Given the description of an element on the screen output the (x, y) to click on. 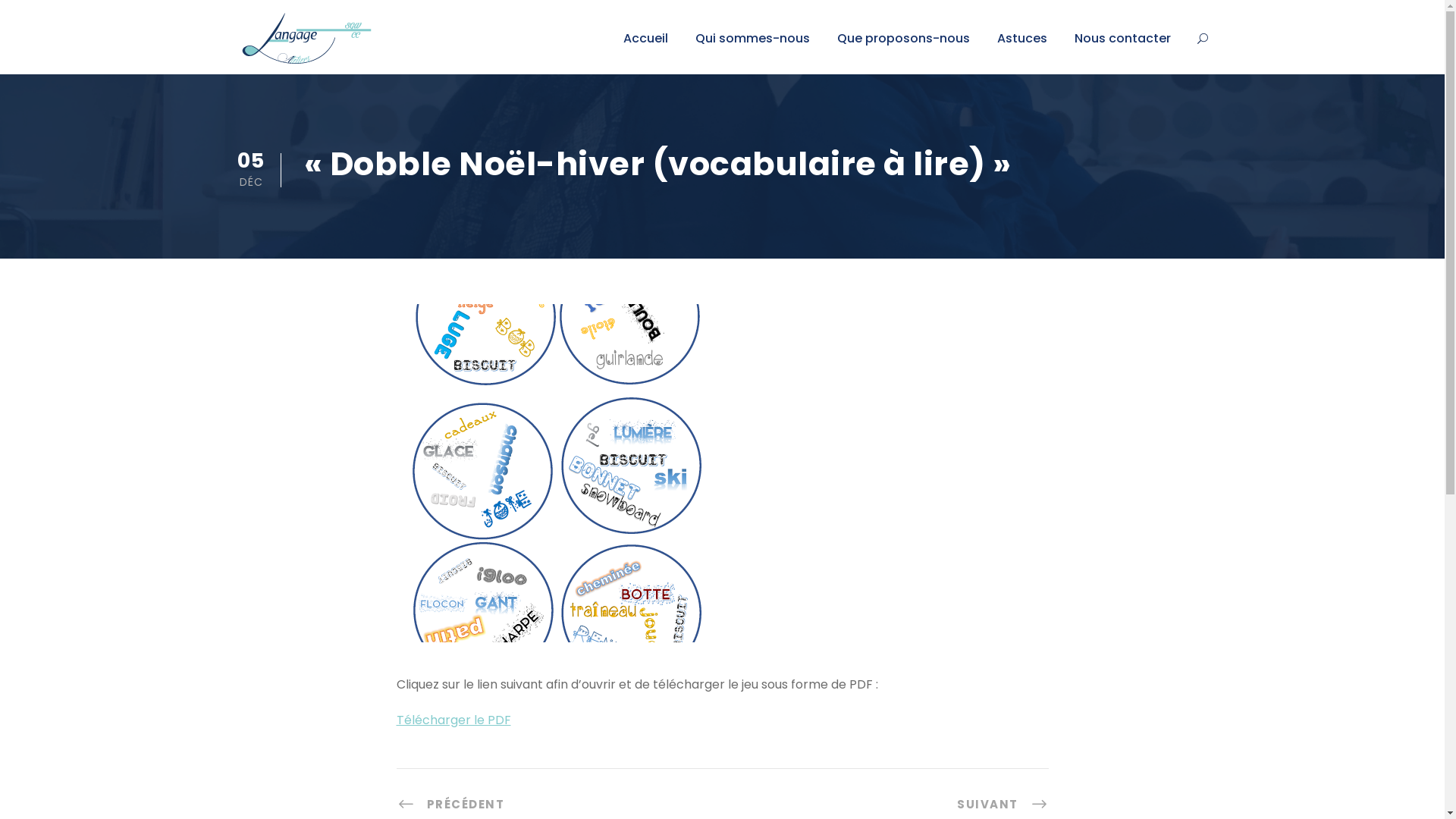
Que proposons-nous Element type: text (903, 51)
Qui sommes-nous Element type: text (751, 51)
Accueil Element type: text (645, 51)
Astuces Element type: text (1021, 51)
SUIVANT Element type: text (1002, 803)
Nous contacter Element type: text (1121, 51)
